Given the description of an element on the screen output the (x, y) to click on. 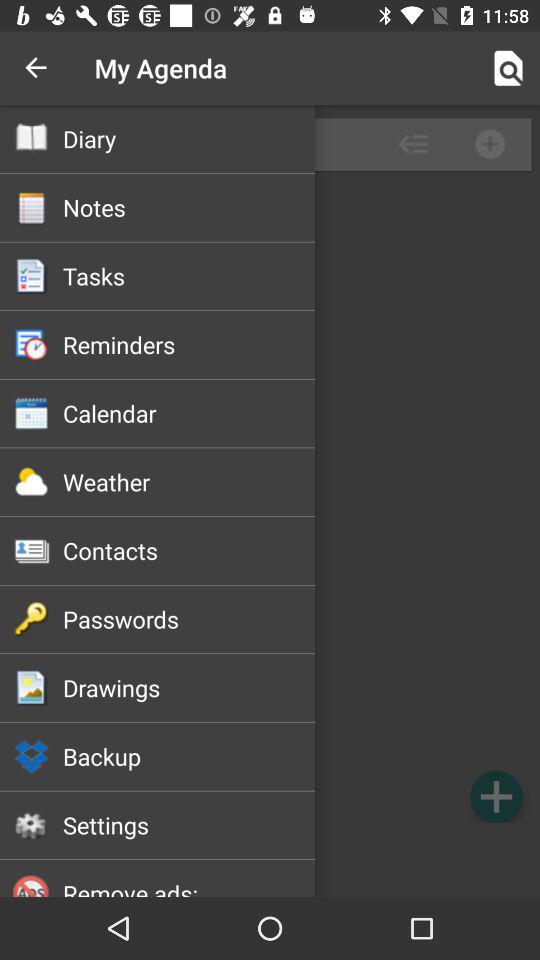
turn on icon above contacts item (188, 482)
